Given the description of an element on the screen output the (x, y) to click on. 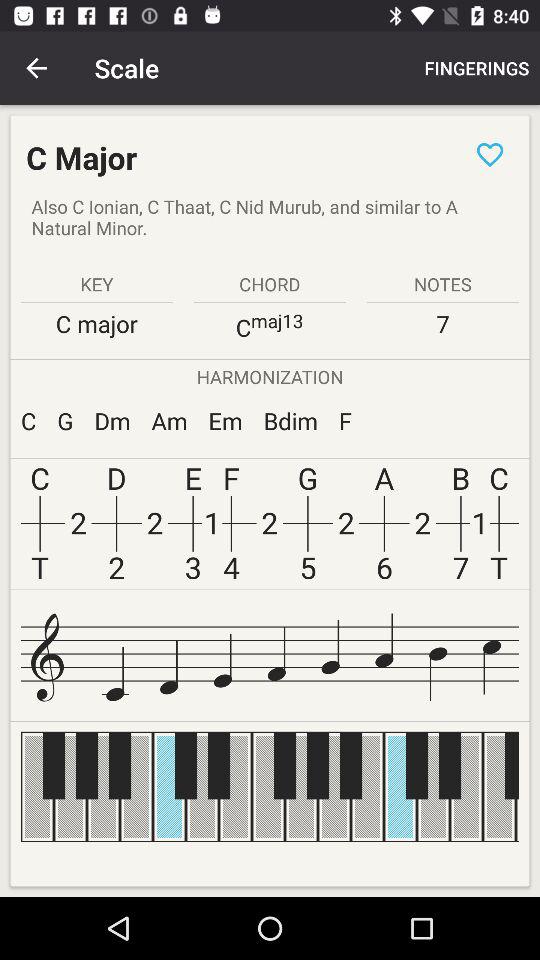
like page (490, 154)
